Given the description of an element on the screen output the (x, y) to click on. 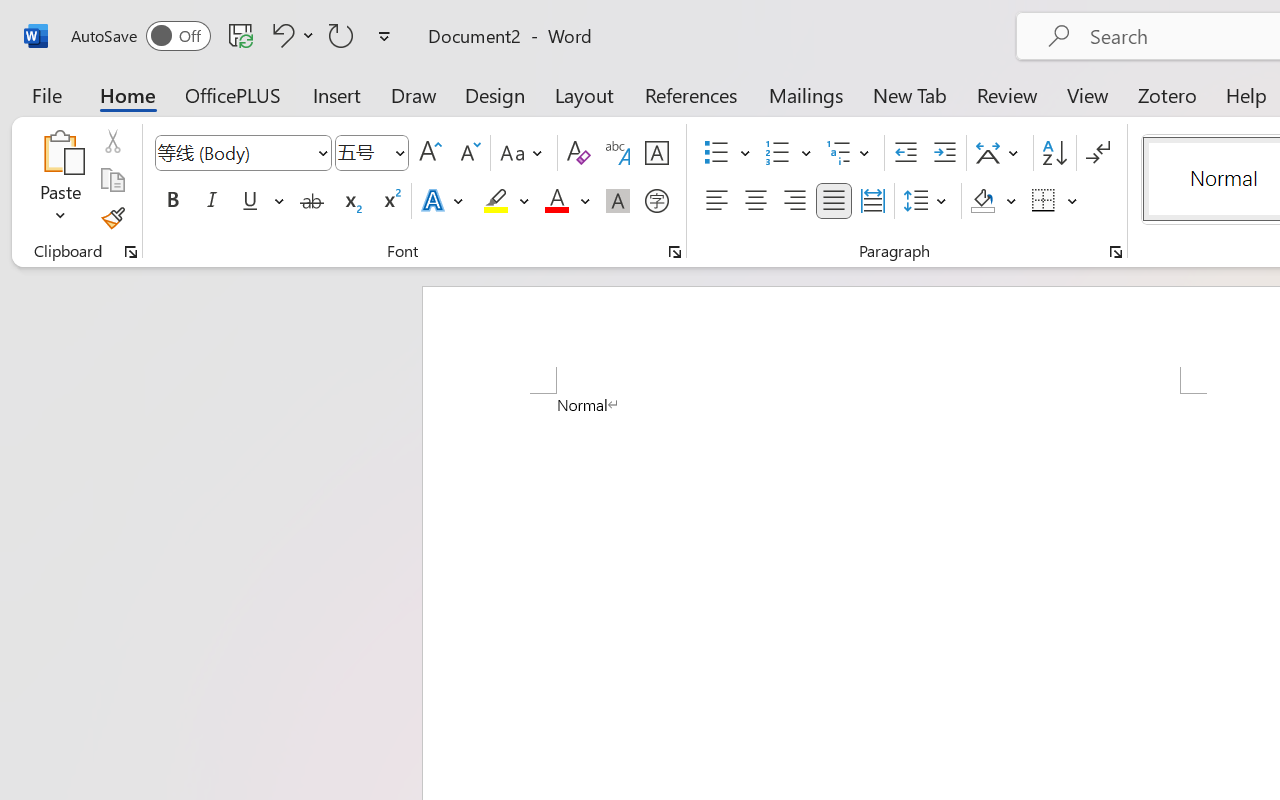
Shading (993, 201)
Center (756, 201)
Numbering (788, 153)
File Tab (46, 94)
Character Shading (618, 201)
Text Highlight Color (506, 201)
Font Color (567, 201)
Design (495, 94)
Office Clipboard... (131, 252)
Cut (112, 141)
Home (127, 94)
View (1087, 94)
Phonetic Guide... (618, 153)
Italic (212, 201)
